Given the description of an element on the screen output the (x, y) to click on. 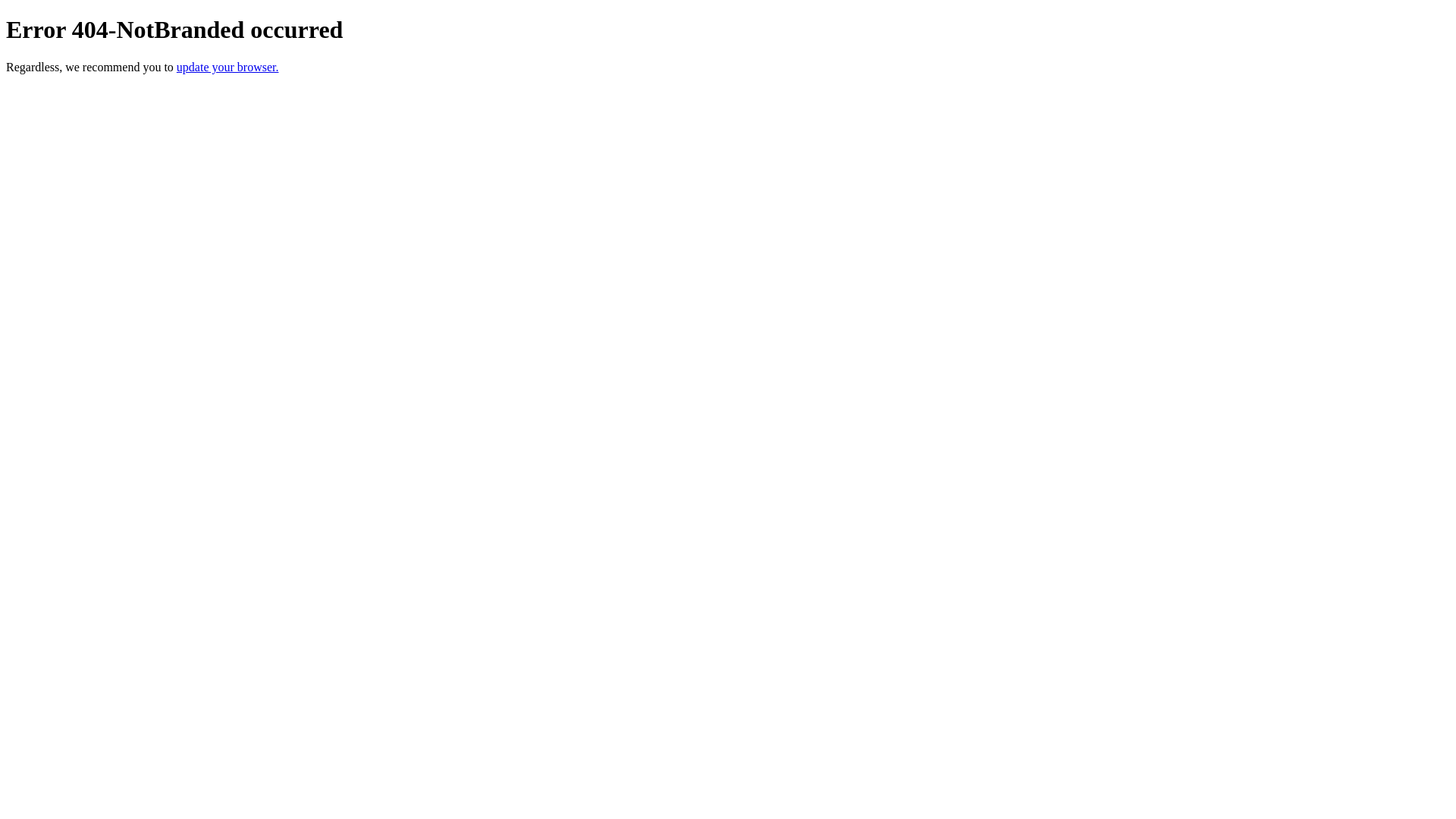
update your browser. Element type: text (227, 66)
